Given the description of an element on the screen output the (x, y) to click on. 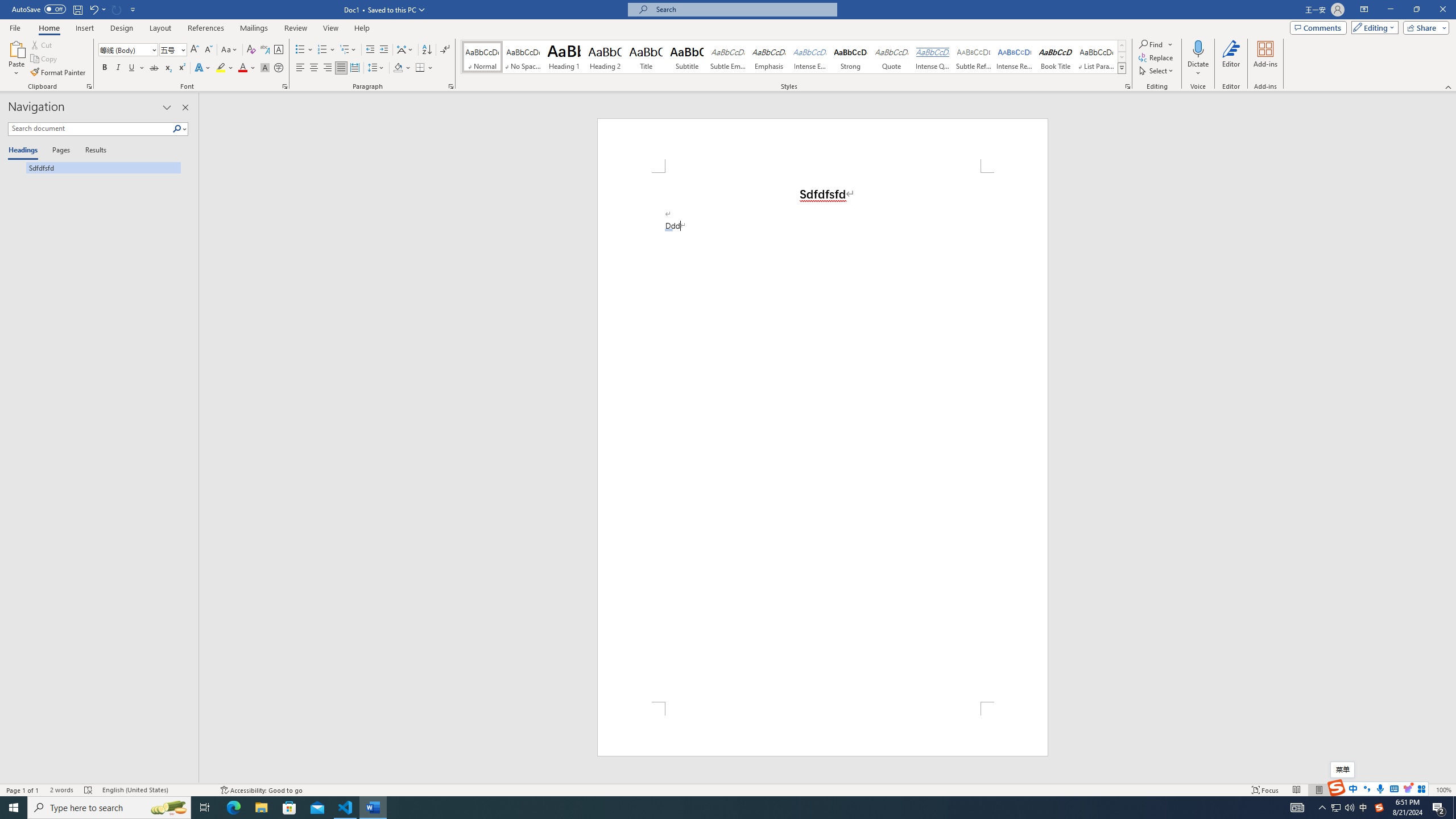
Intense Quote (932, 56)
